Given the description of an element on the screen output the (x, y) to click on. 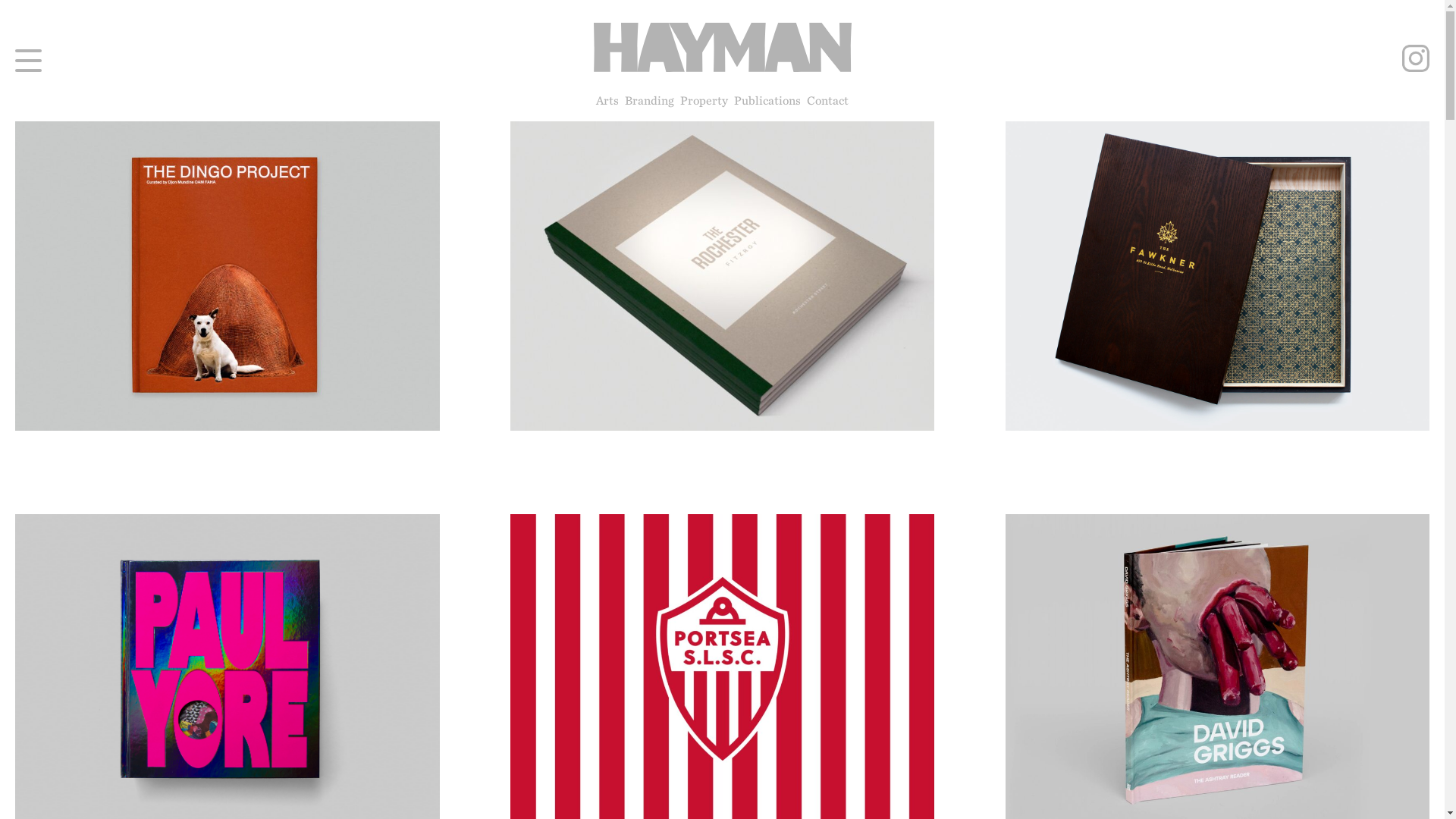
Publications Element type: text (767, 100)
Contact Element type: text (827, 100)
Branding Element type: text (649, 100)
Property Element type: text (704, 100)
Arts Element type: text (607, 100)
